Given the description of an element on the screen output the (x, y) to click on. 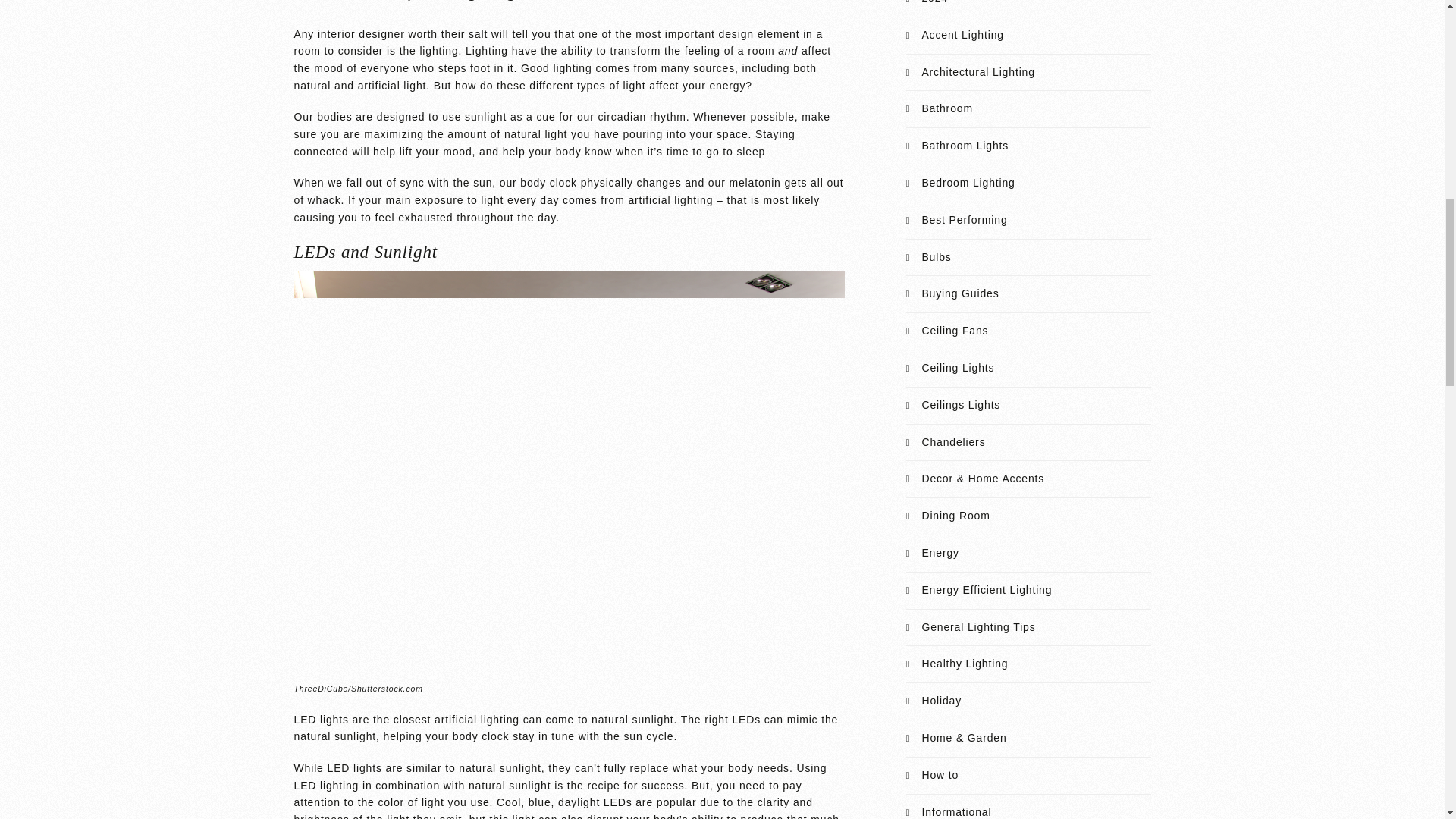
2024 (934, 2)
Bulbs (935, 256)
Chandeliers (953, 441)
Best Performing (964, 219)
Ceiling Lights (957, 367)
Accent Lighting (962, 34)
Bathroom (946, 108)
Ceiling Fans (954, 330)
Buying Guides (959, 293)
Bedroom Lighting (967, 182)
